Given the description of an element on the screen output the (x, y) to click on. 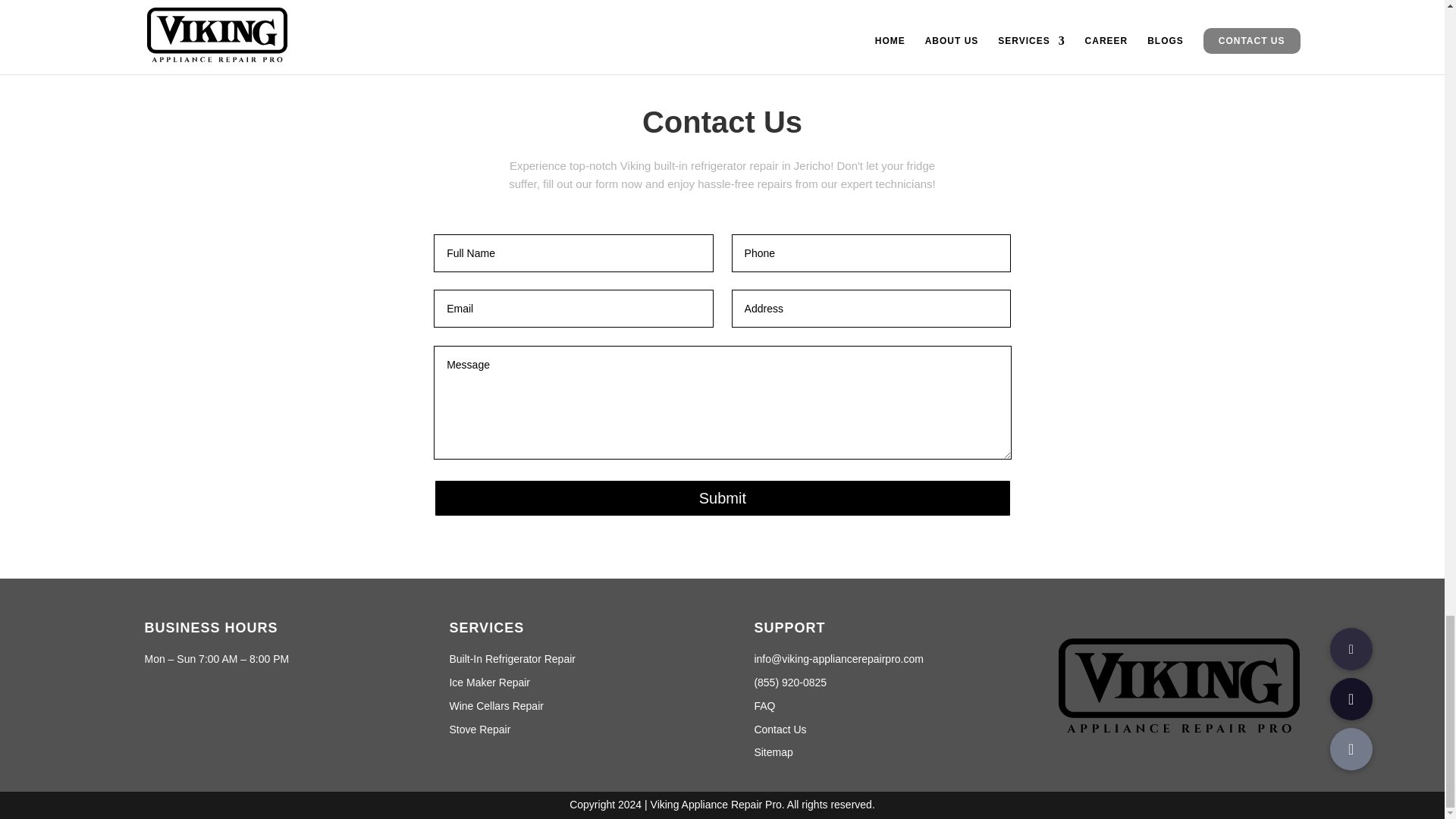
Sitemap (773, 752)
Built-In Refrigerator Repair (511, 658)
Logo Black (1179, 689)
Contact Us (780, 729)
Stove Repair (479, 729)
FAQ (764, 705)
Submit (721, 497)
Ice Maker Repair (488, 682)
Wine Cellars Repair (495, 705)
